Given the description of an element on the screen output the (x, y) to click on. 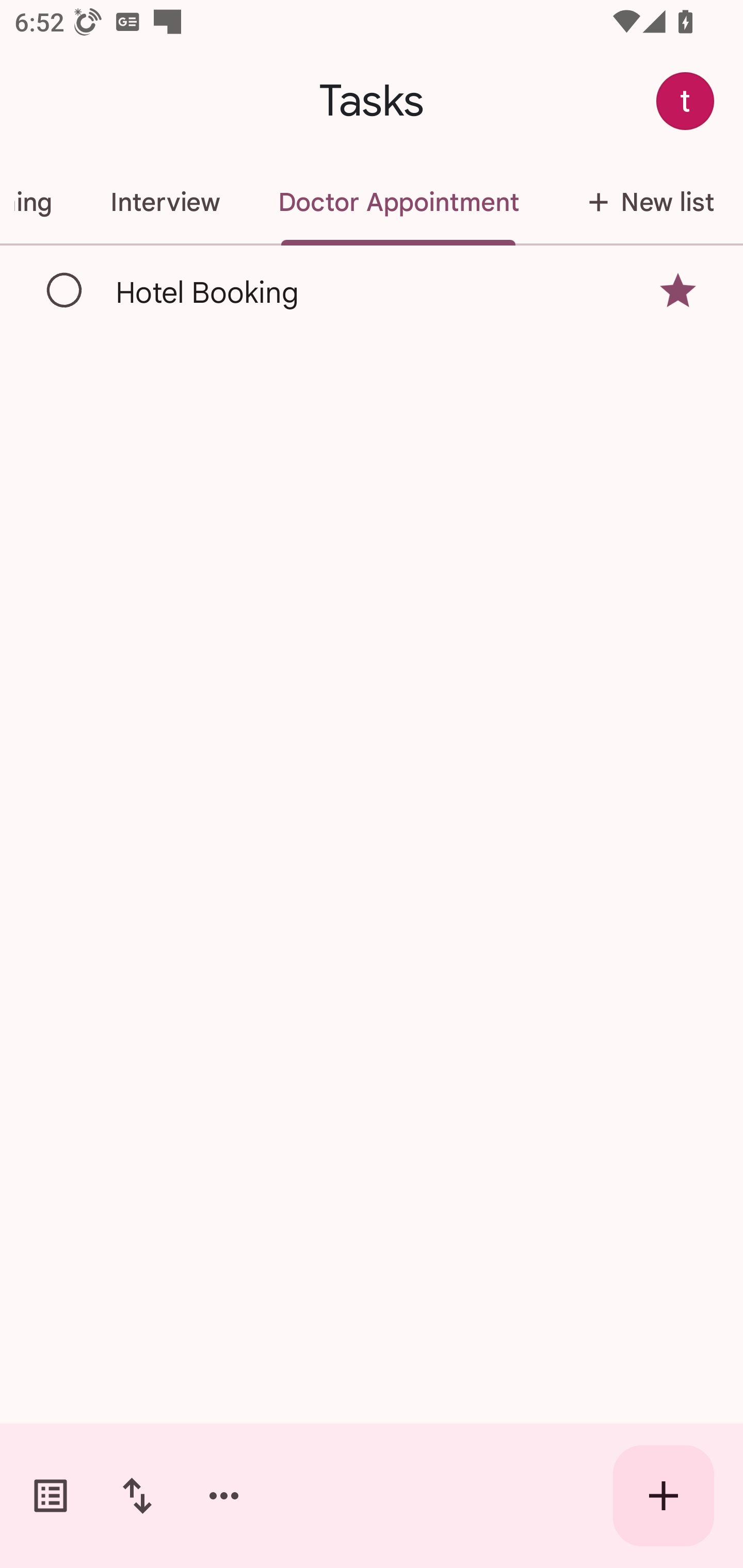
Interview (164, 202)
New list (645, 202)
Remove star (677, 290)
Mark as complete (64, 290)
Switch task lists (50, 1495)
Create new task (663, 1495)
Change sort order (136, 1495)
More options (223, 1495)
